Given the description of an element on the screen output the (x, y) to click on. 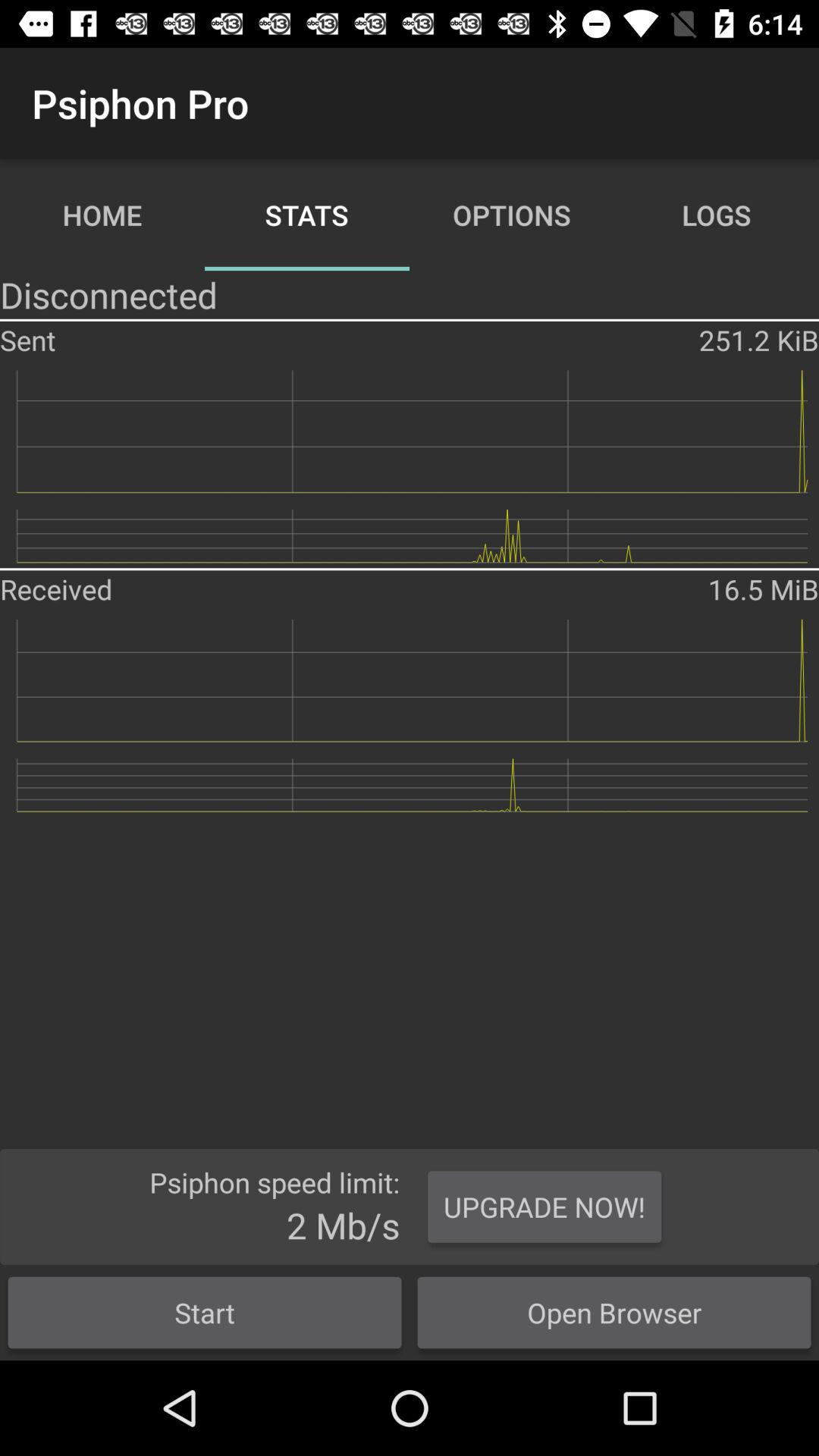
jump to the upgrade now! (544, 1206)
